Given the description of an element on the screen output the (x, y) to click on. 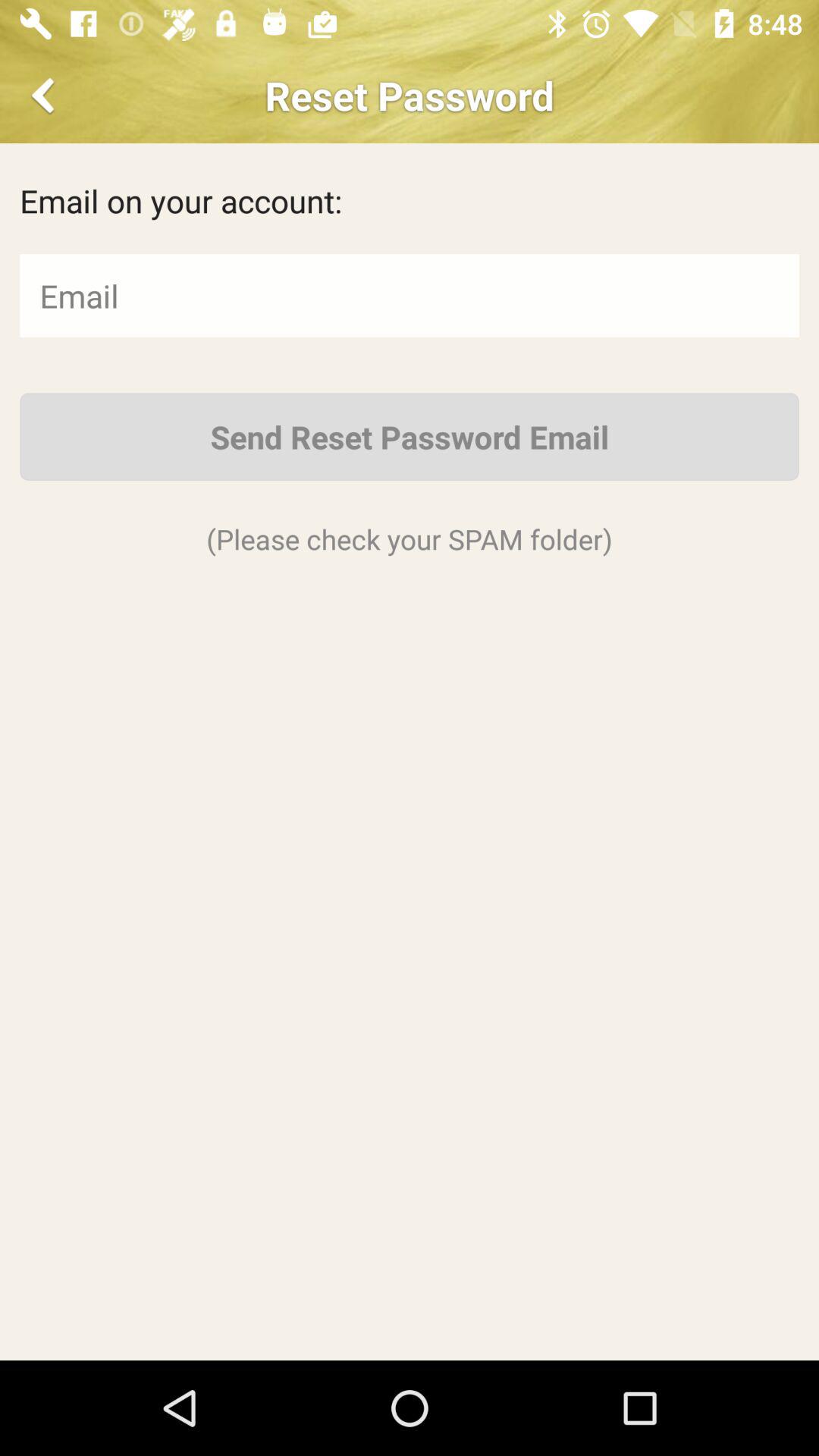
go to previous (45, 95)
